Given the description of an element on the screen output the (x, y) to click on. 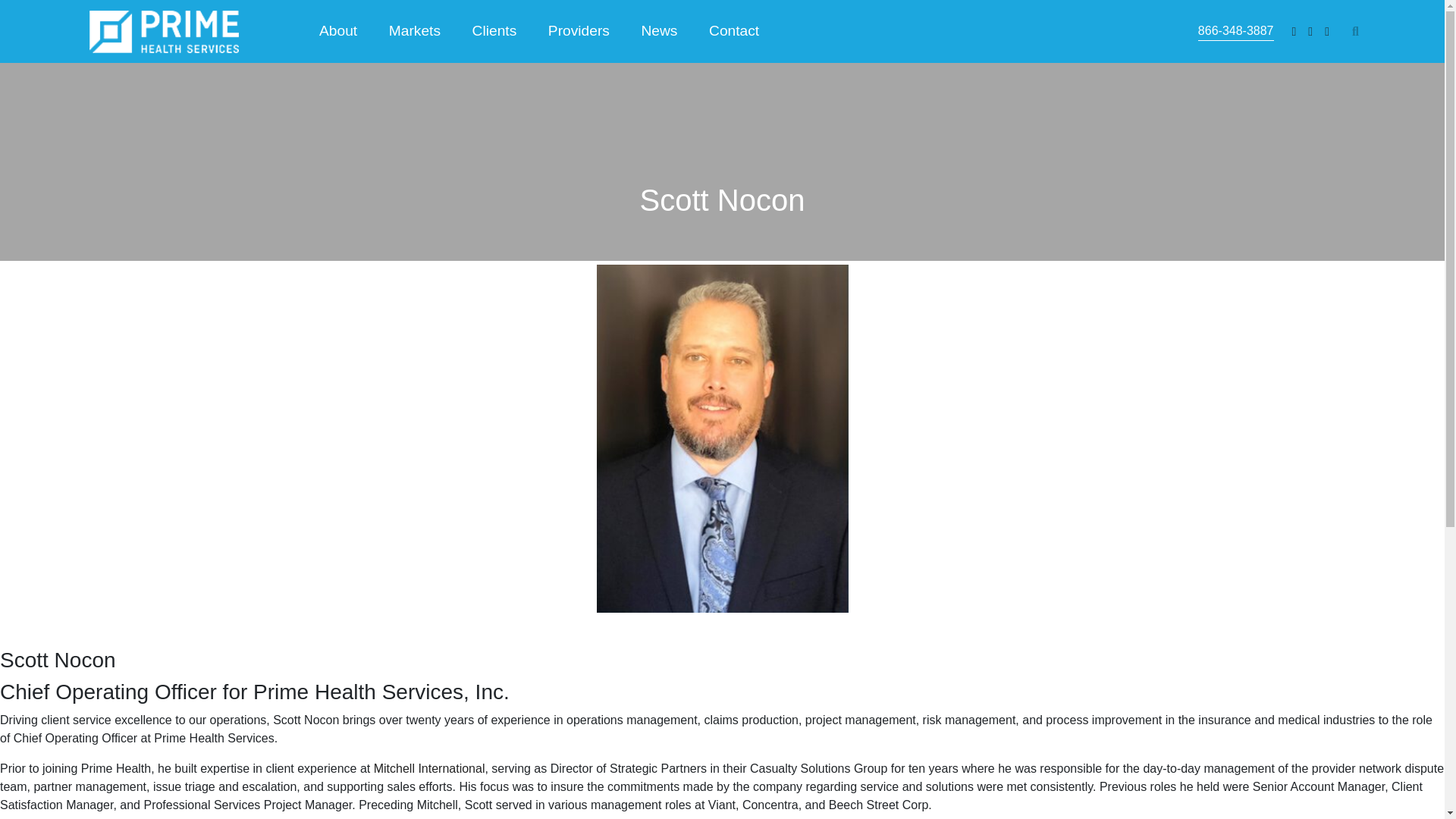
Markets (414, 31)
News (660, 31)
866-348-3887 (1236, 31)
Clients (494, 31)
About (337, 31)
Contact (733, 31)
Providers (579, 31)
